Given the description of an element on the screen output the (x, y) to click on. 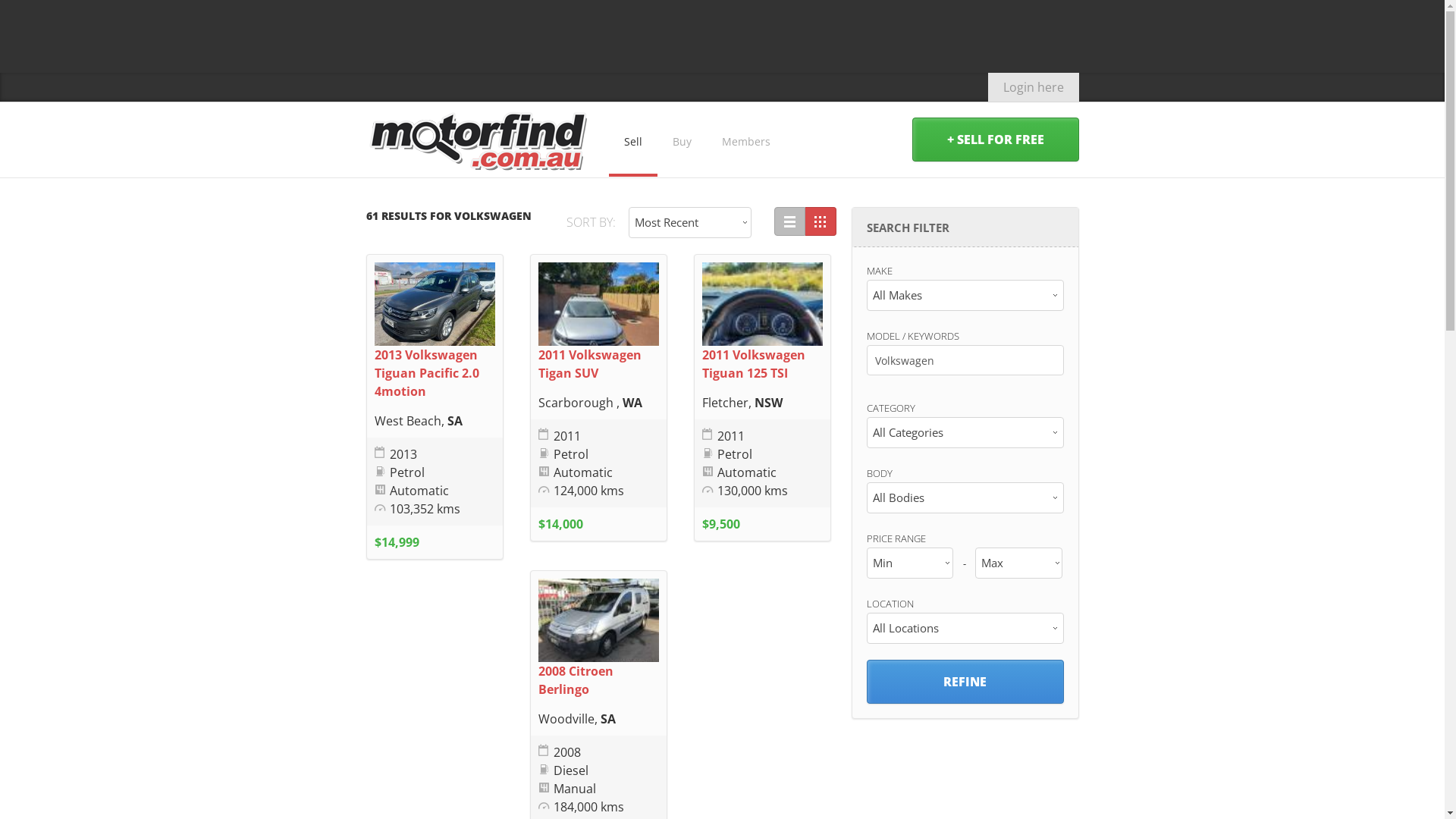
Members Element type: text (745, 139)
Login here Element type: text (1032, 86)
Advertisement Element type: hover (721, 34)
Sell Element type: text (632, 139)
2008 Citroen Berlingo Element type: text (575, 679)
2011 Volkswagen Tigan SUV Element type: text (589, 363)
+ SELL FOR FREE Element type: text (994, 139)
REFINE Element type: text (964, 681)
2013 Volkswagen Tiguan Pacific 2.0 4motion Element type: text (426, 372)
2011 Volkswagen Tiguan 125 TSI Element type: text (753, 363)
Buy Element type: text (681, 139)
